Given the description of an element on the screen output the (x, y) to click on. 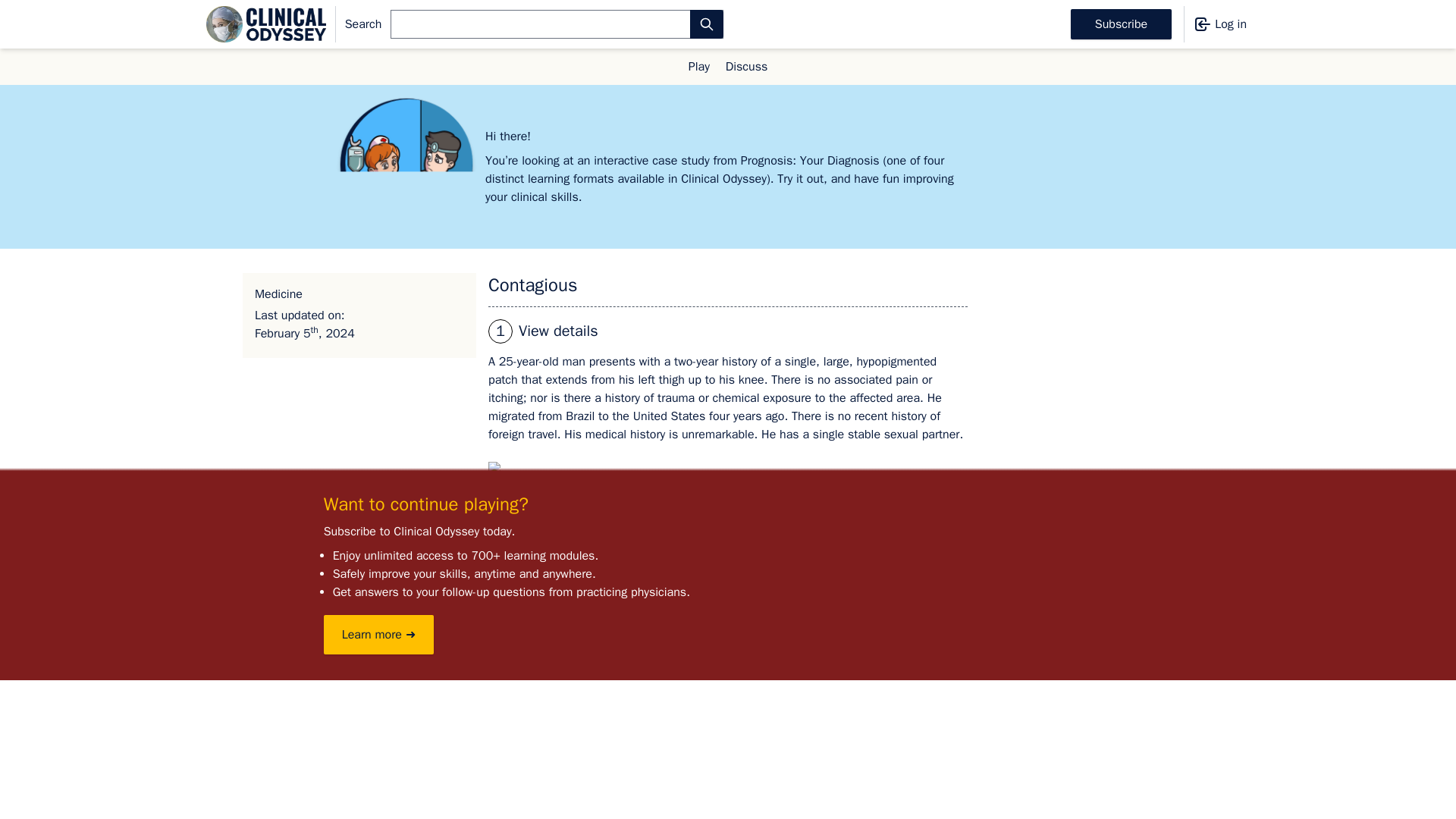
Log in (1215, 24)
Subscribe (1121, 24)
